Given the description of an element on the screen output the (x, y) to click on. 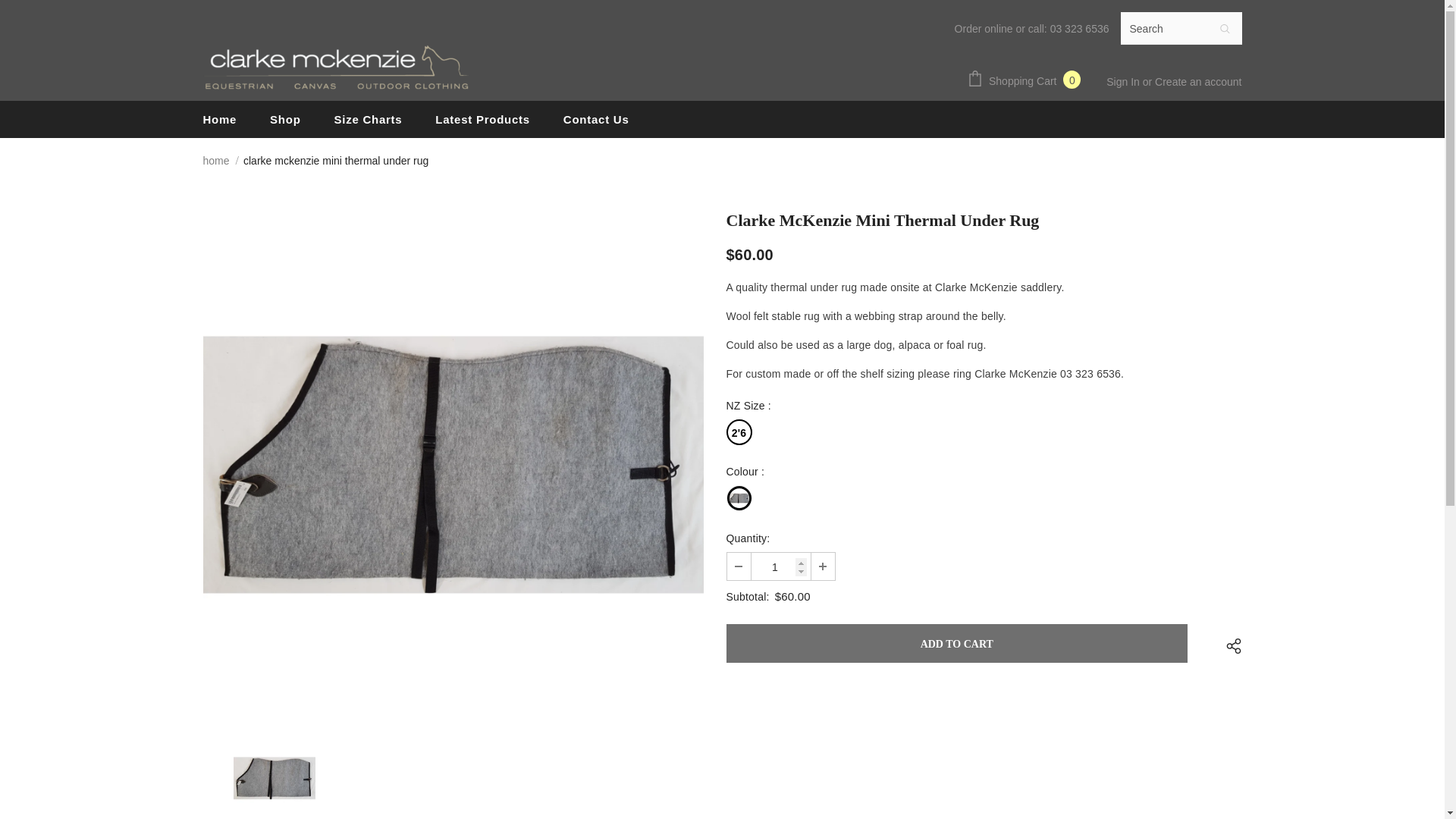
Contact Us (595, 119)
Cart (1026, 80)
Create an account (1197, 81)
Add to cart (957, 643)
1 (780, 565)
home (216, 160)
03 323 6536 (1079, 28)
Sign In (1123, 81)
Home (220, 119)
Add to cart (957, 643)
